Given the description of an element on the screen output the (x, y) to click on. 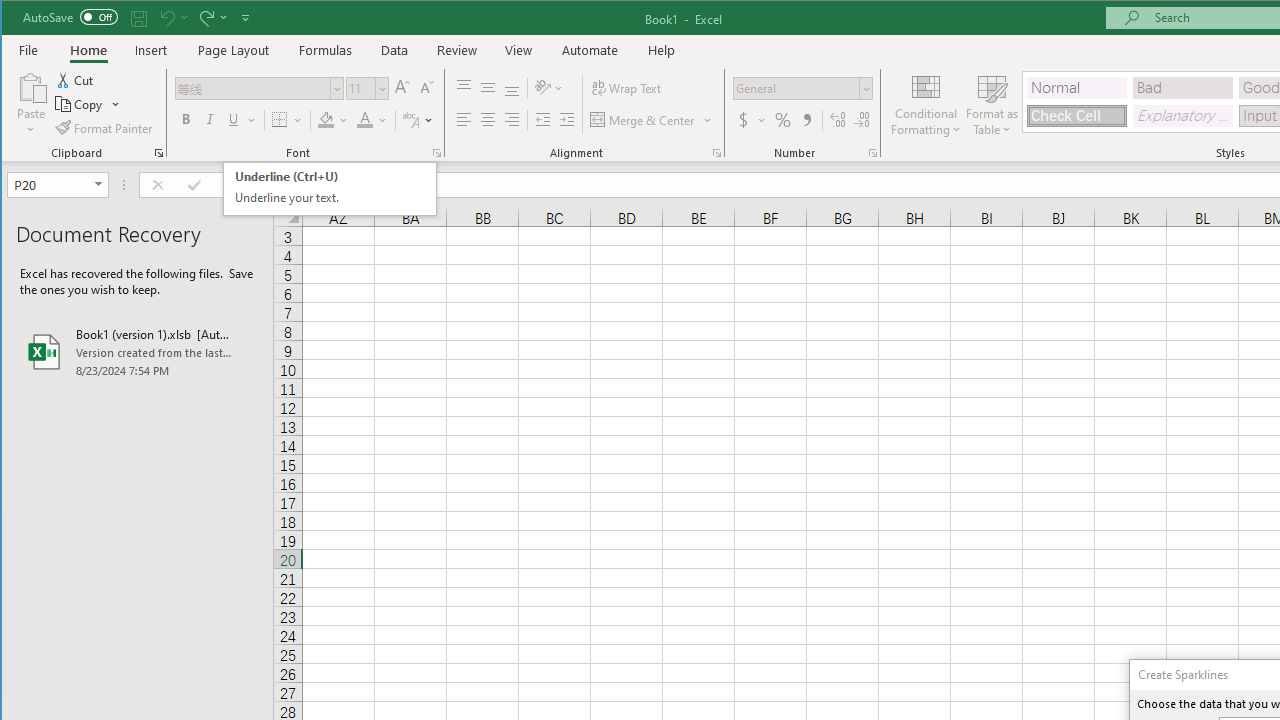
Font Color RGB(255, 0, 0) (365, 119)
Decrease Indent (543, 119)
Number Format (802, 88)
